Given the description of an element on the screen output the (x, y) to click on. 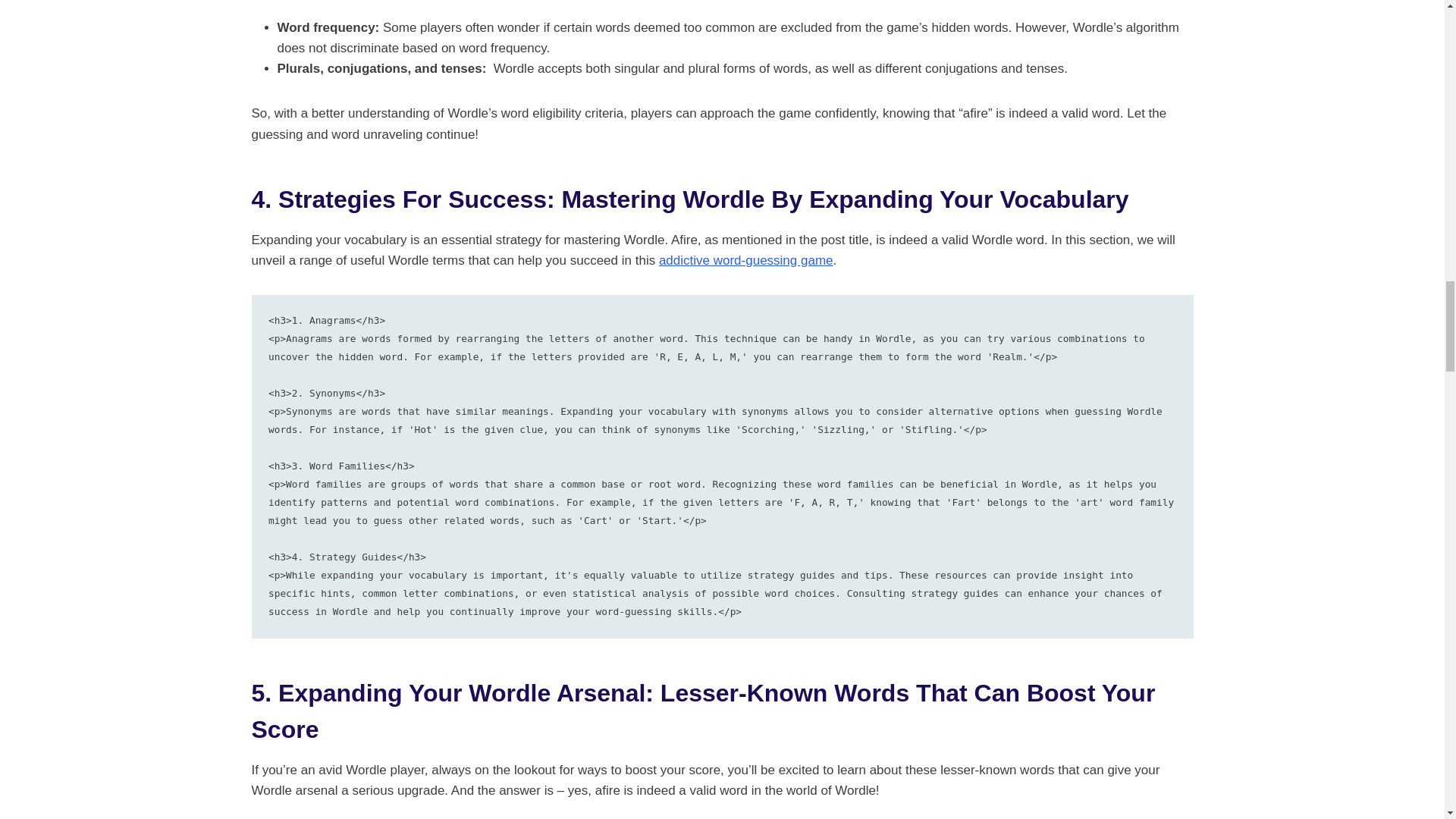
addictive word-guessing game (745, 260)
